Given the description of an element on the screen output the (x, y) to click on. 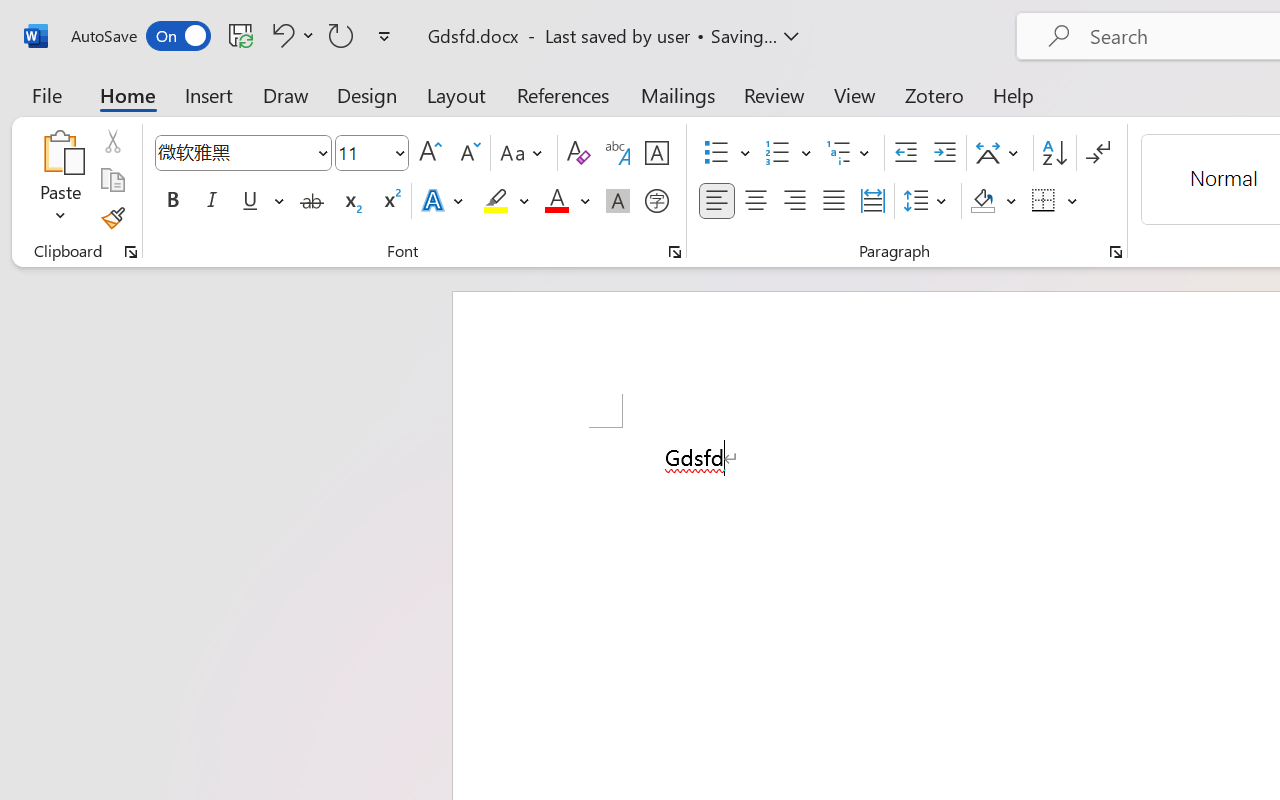
Font Color Red (556, 201)
Undo <ApplyStyleToDoc>b__0 (280, 35)
Undo <ApplyStyleToDoc>b__0 (290, 35)
